Given the description of an element on the screen output the (x, y) to click on. 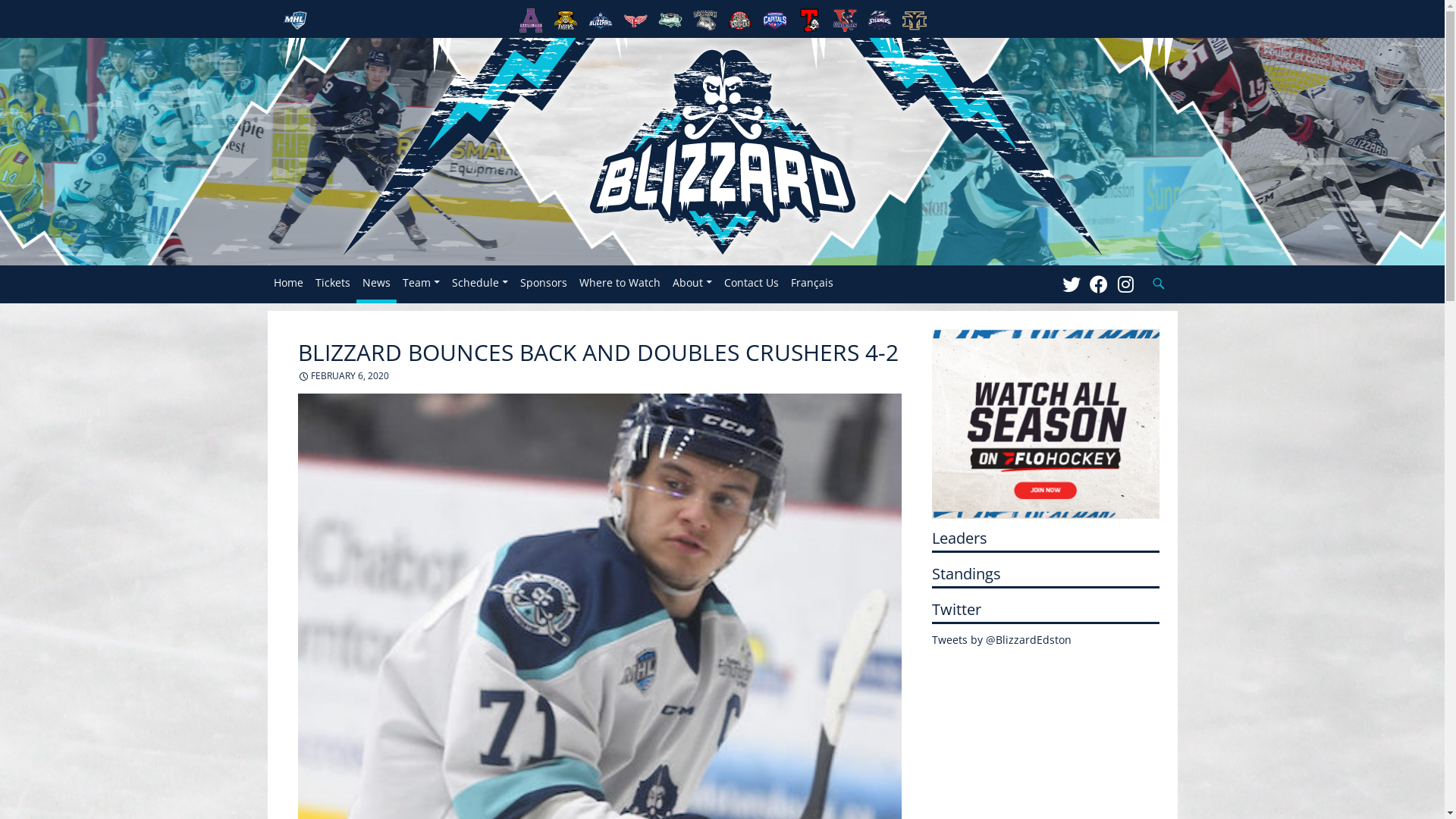
Miramichi Timberwolves Element type: hover (704, 20)
Edmundston Blizzard Element type: hover (721, 149)
Home Element type: text (287, 282)
Blizzard bounces back and doubles Crushers 4-2 Element type: hover (1044, 423)
Maritime Hockey League Element type: hover (294, 20)
Fredericton Red Wings Element type: hover (634, 20)
News Element type: text (376, 282)
Edmundston Blizzard Element type: hover (599, 20)
Twitter Element type: hover (1070, 283)
Team Element type: text (420, 282)
Tweets by @BlizzardEdston Element type: text (1000, 639)
Instagram Element type: hover (1125, 283)
Yarmouth Mariners Element type: hover (913, 20)
Search Element type: text (1142, 264)
Amherst Ramblers Element type: hover (530, 20)
Facebook Element type: hover (1097, 283)
Summerside Western Capitals Element type: hover (774, 20)
Tickets Element type: text (332, 282)
Sponsors Element type: text (543, 282)
Campbellton Tigers Element type: hover (564, 20)
Contact Us Element type: text (750, 282)
Grand Falls Rapids Element type: hover (669, 20)
West Kent Steamers Element type: hover (878, 20)
Schedule Element type: text (479, 282)
About Element type: text (691, 282)
Truro Bearcats Element type: hover (809, 20)
Pictou County Weeks Crushers Element type: hover (739, 20)
FEBRUARY 6, 2020 Element type: text (343, 375)
Valley Wildcats Element type: hover (843, 20)
Where to Watch Element type: text (619, 282)
